Given the description of an element on the screen output the (x, y) to click on. 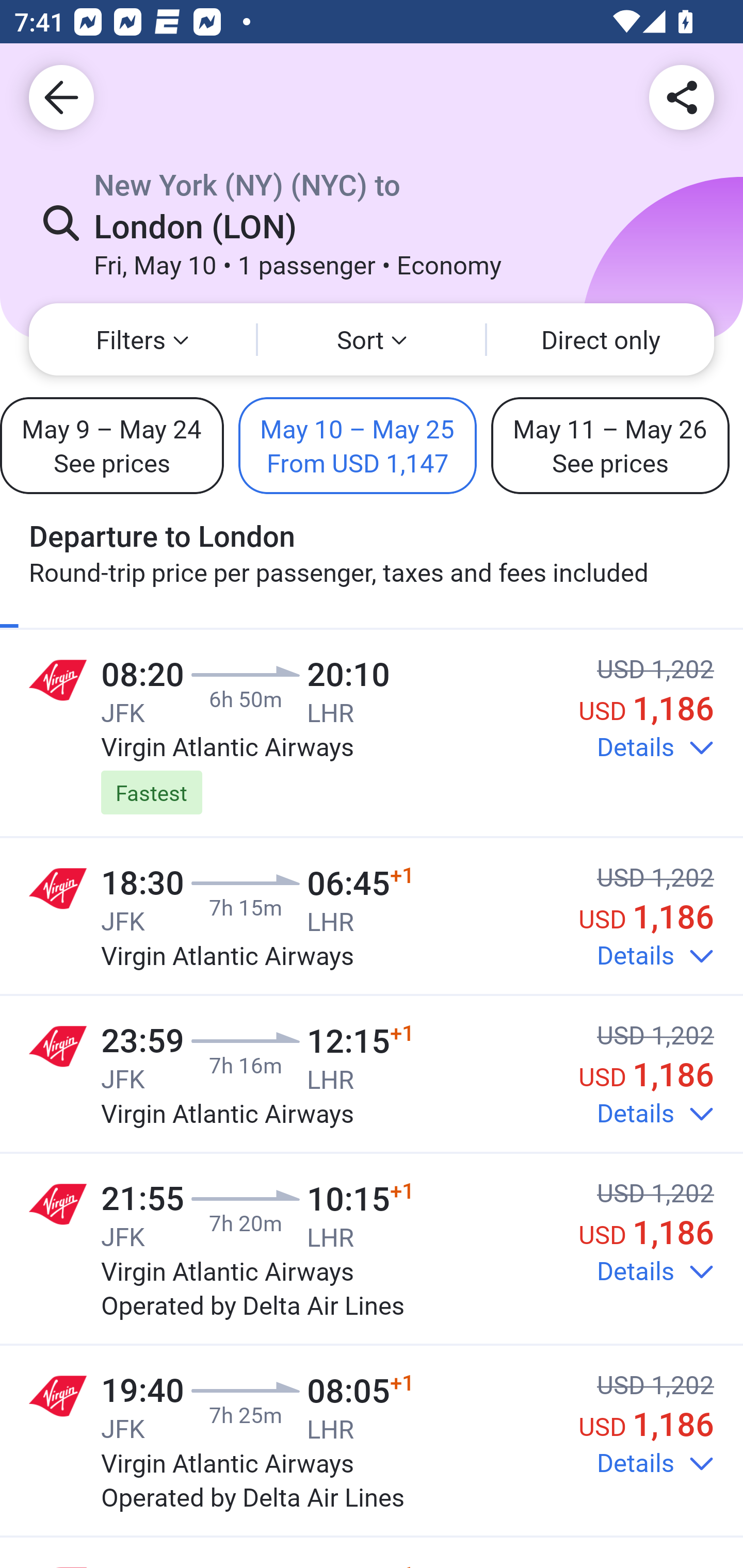
Filters (141, 339)
Sort (371, 339)
Direct only (600, 339)
May 9 – May 24 See prices (111, 444)
May 10 – May 25 From USD 1,147 (357, 444)
May 11 – May 26 See prices (610, 444)
